Given the description of an element on the screen output the (x, y) to click on. 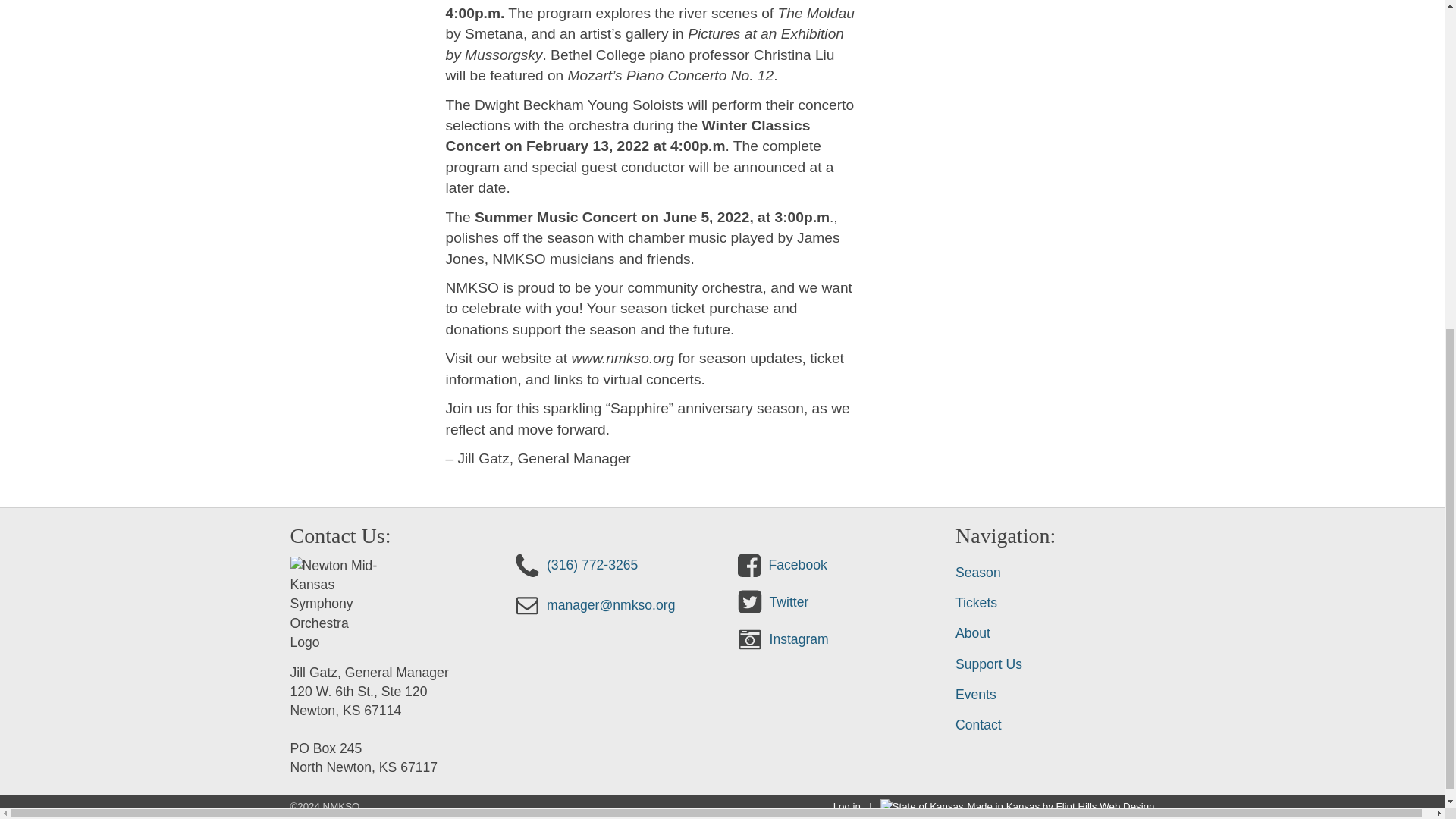
Support Us (1054, 664)
Contact (1054, 724)
Facebook (780, 560)
Tickets (1054, 602)
Newton Mid-Kansas Symphony Orchestra (334, 603)
Instagram (780, 634)
Events (1054, 694)
Season (1054, 572)
Log in (846, 806)
Made in Kansas by Flint Hills Web Design (1061, 806)
About (1054, 633)
Twitter (771, 596)
